Given the description of an element on the screen output the (x, y) to click on. 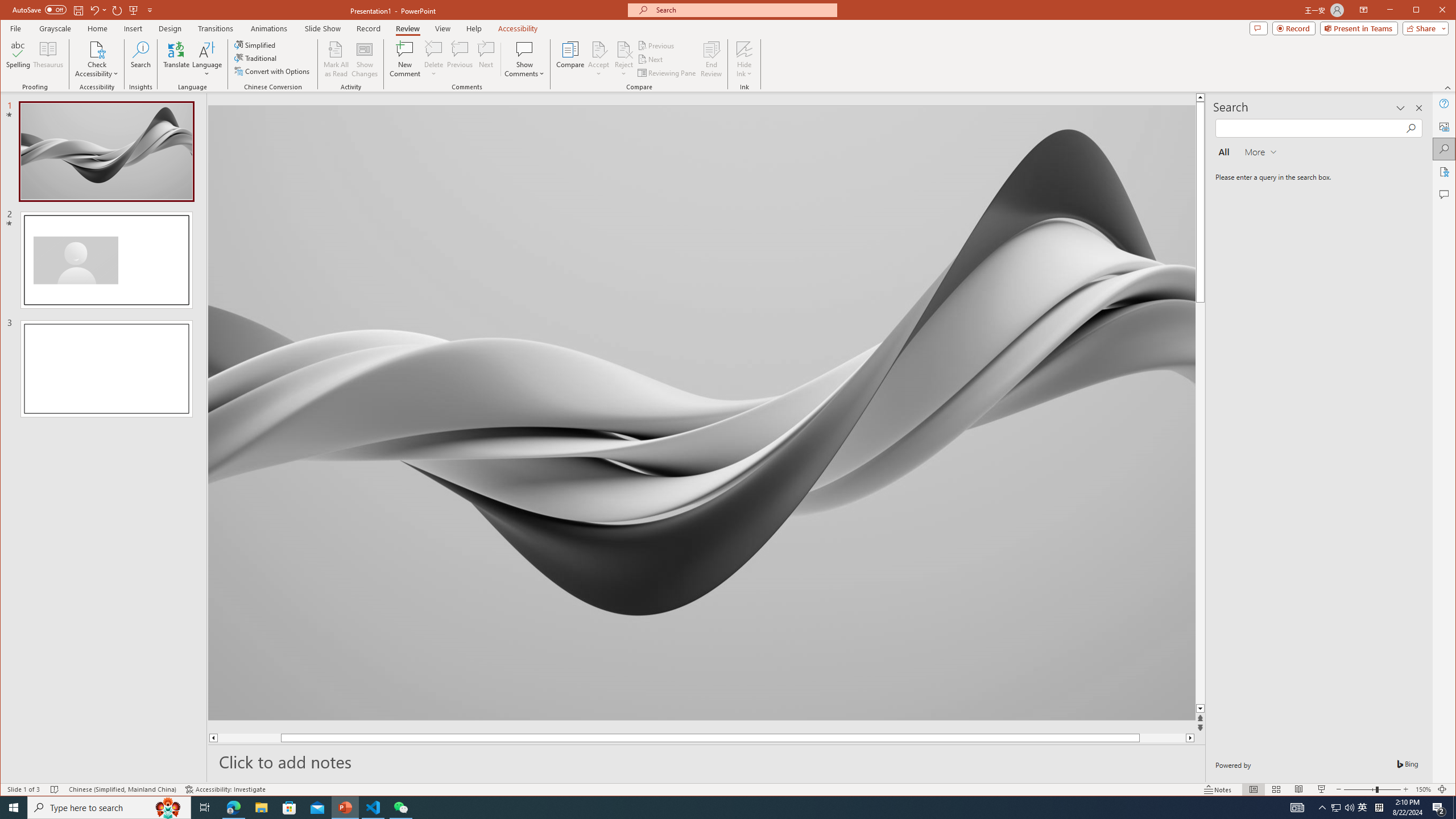
End Review (710, 59)
Mark All as Read (335, 59)
New Comment (405, 59)
Reject Change (623, 48)
